Given the description of an element on the screen output the (x, y) to click on. 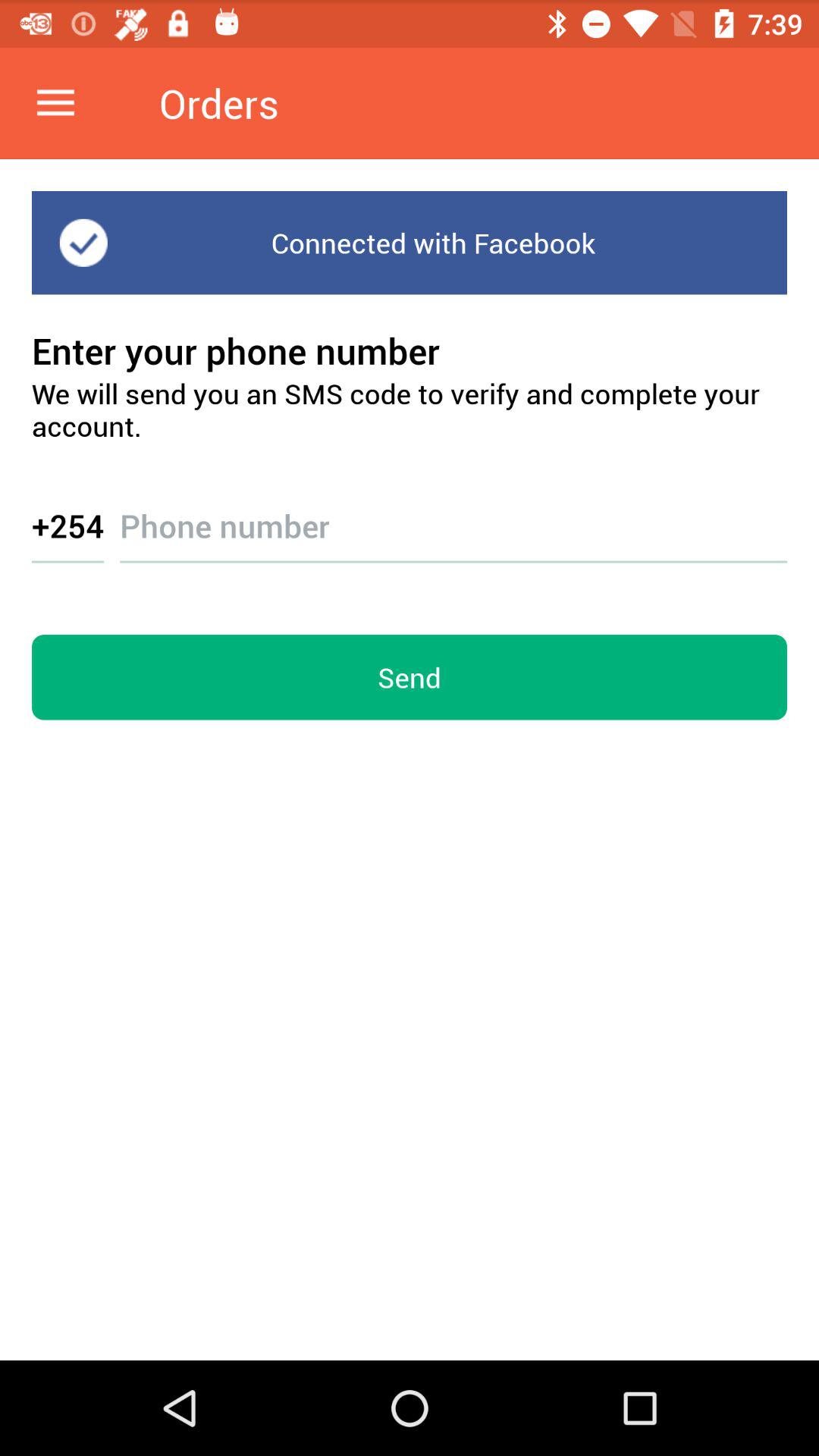
press item next to +254 item (453, 511)
